Given the description of an element on the screen output the (x, y) to click on. 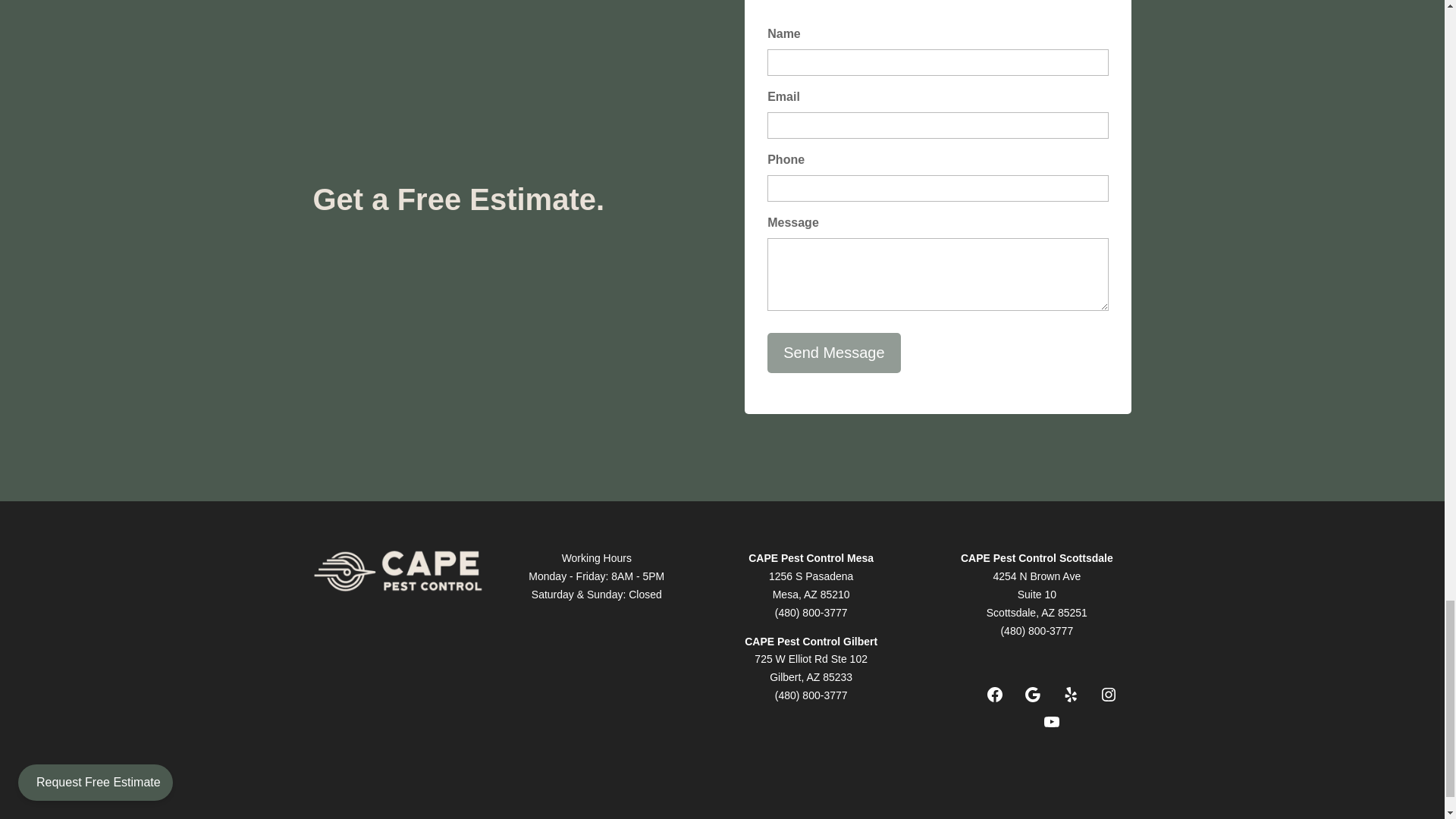
Send Message (833, 352)
